Given the description of an element on the screen output the (x, y) to click on. 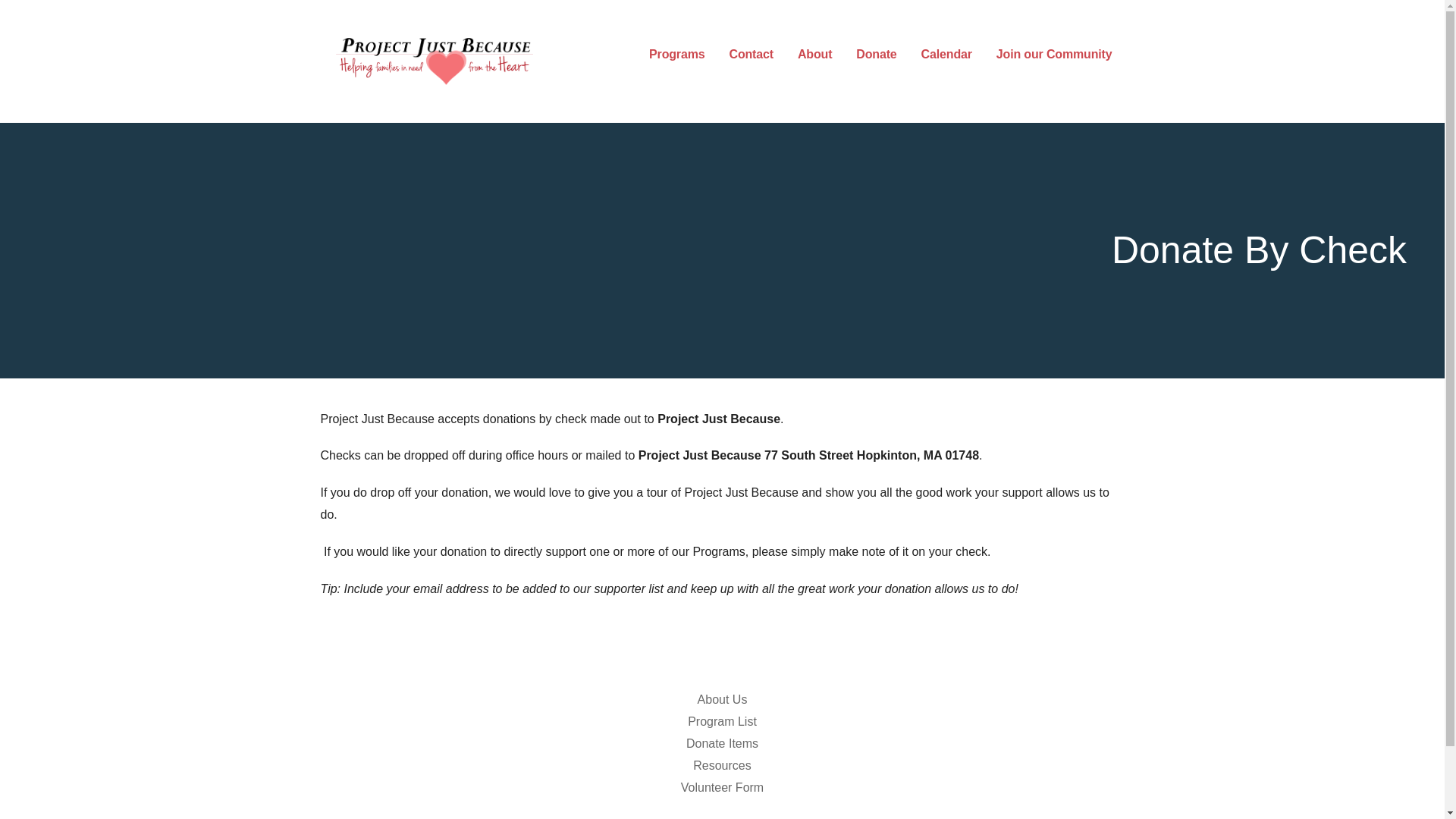
Project Just Because (464, 99)
Programs (676, 55)
Donate Items (721, 743)
Program List (722, 721)
Contact (751, 55)
Volunteer Form (721, 787)
About (814, 55)
About Us (722, 698)
Calendar (946, 55)
Donate (876, 55)
